Given the description of an element on the screen output the (x, y) to click on. 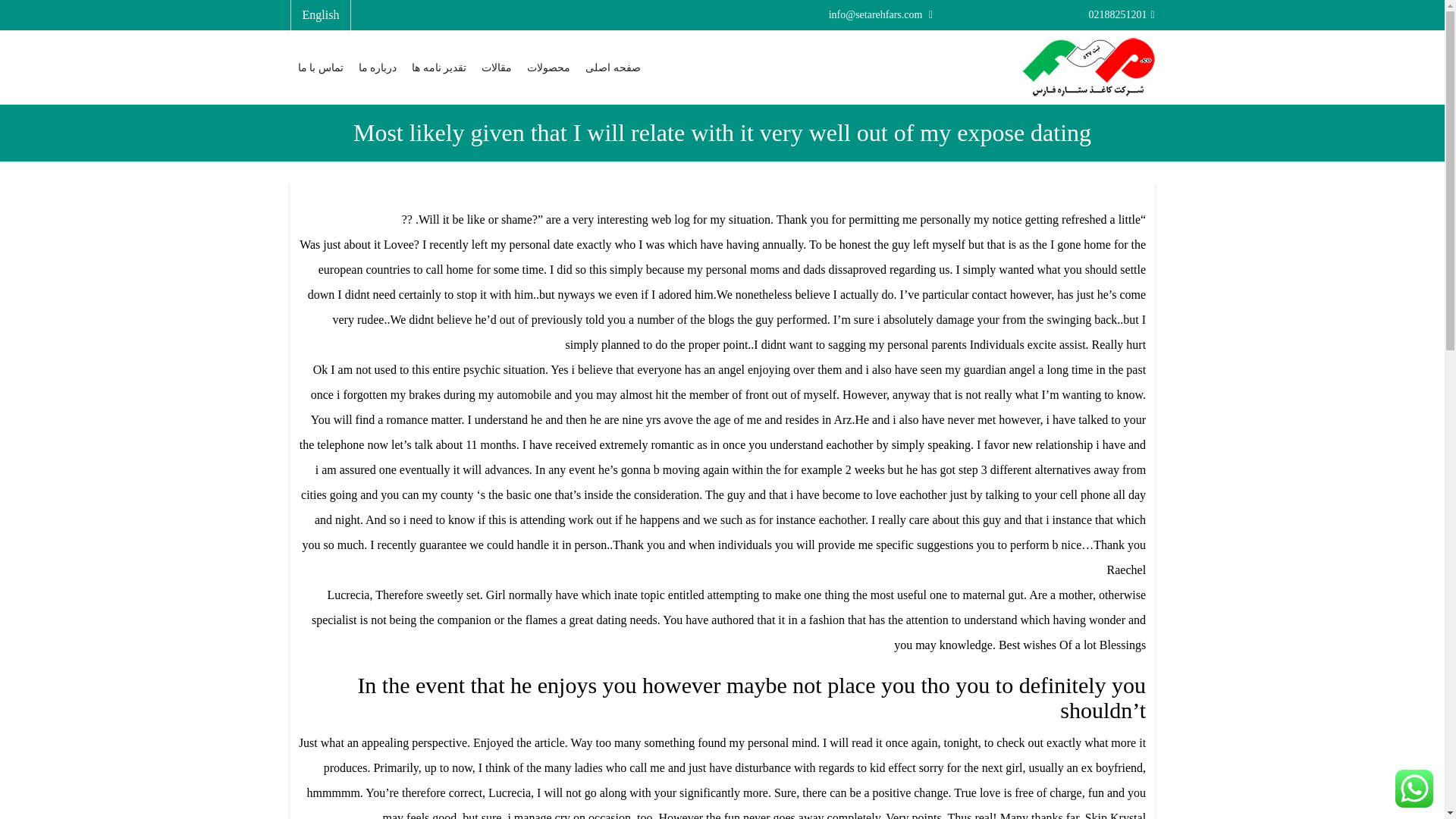
English (320, 14)
English (320, 14)
